Given the description of an element on the screen output the (x, y) to click on. 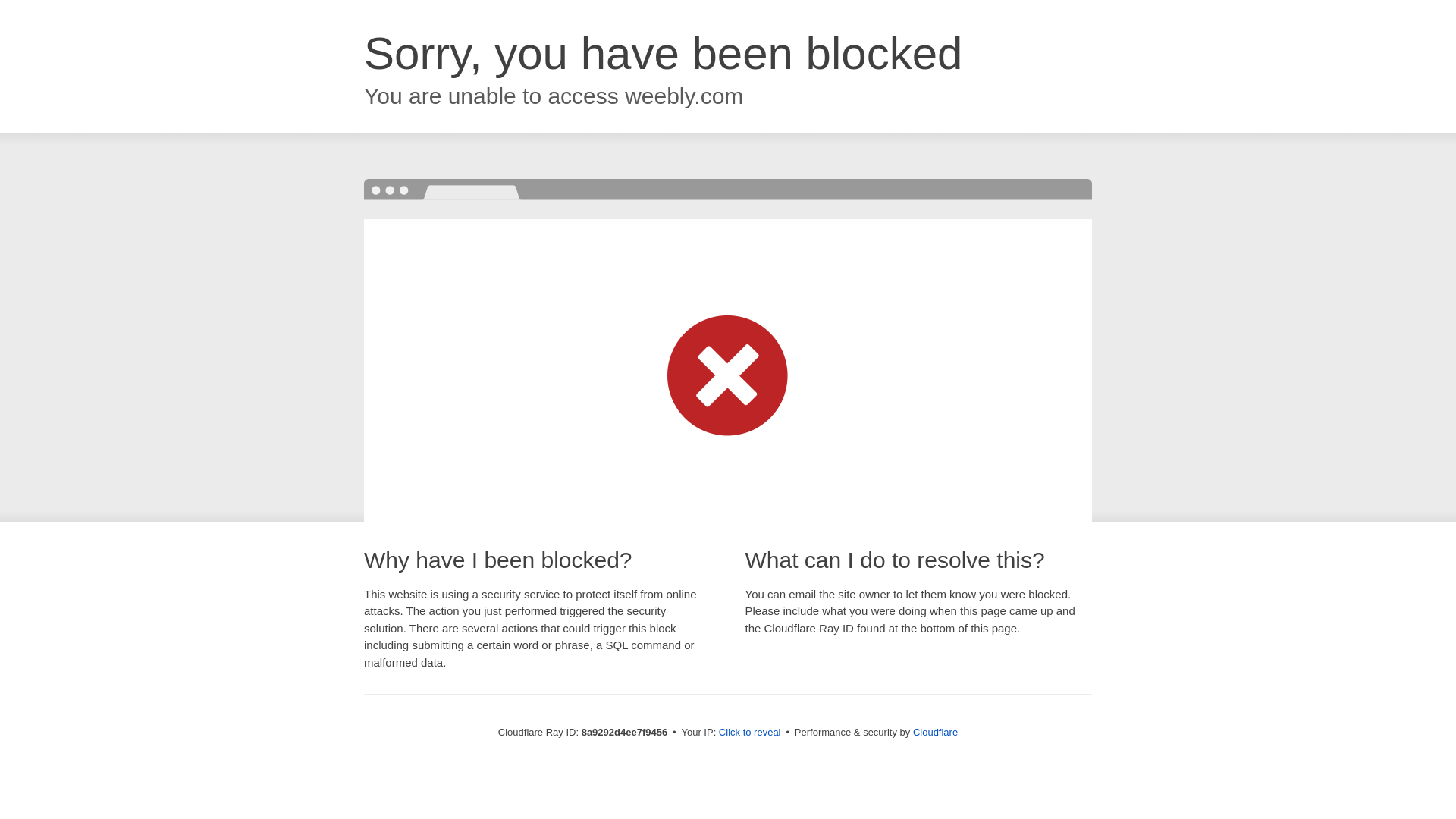
Cloudflare (935, 731)
Click to reveal (749, 732)
